Given the description of an element on the screen output the (x, y) to click on. 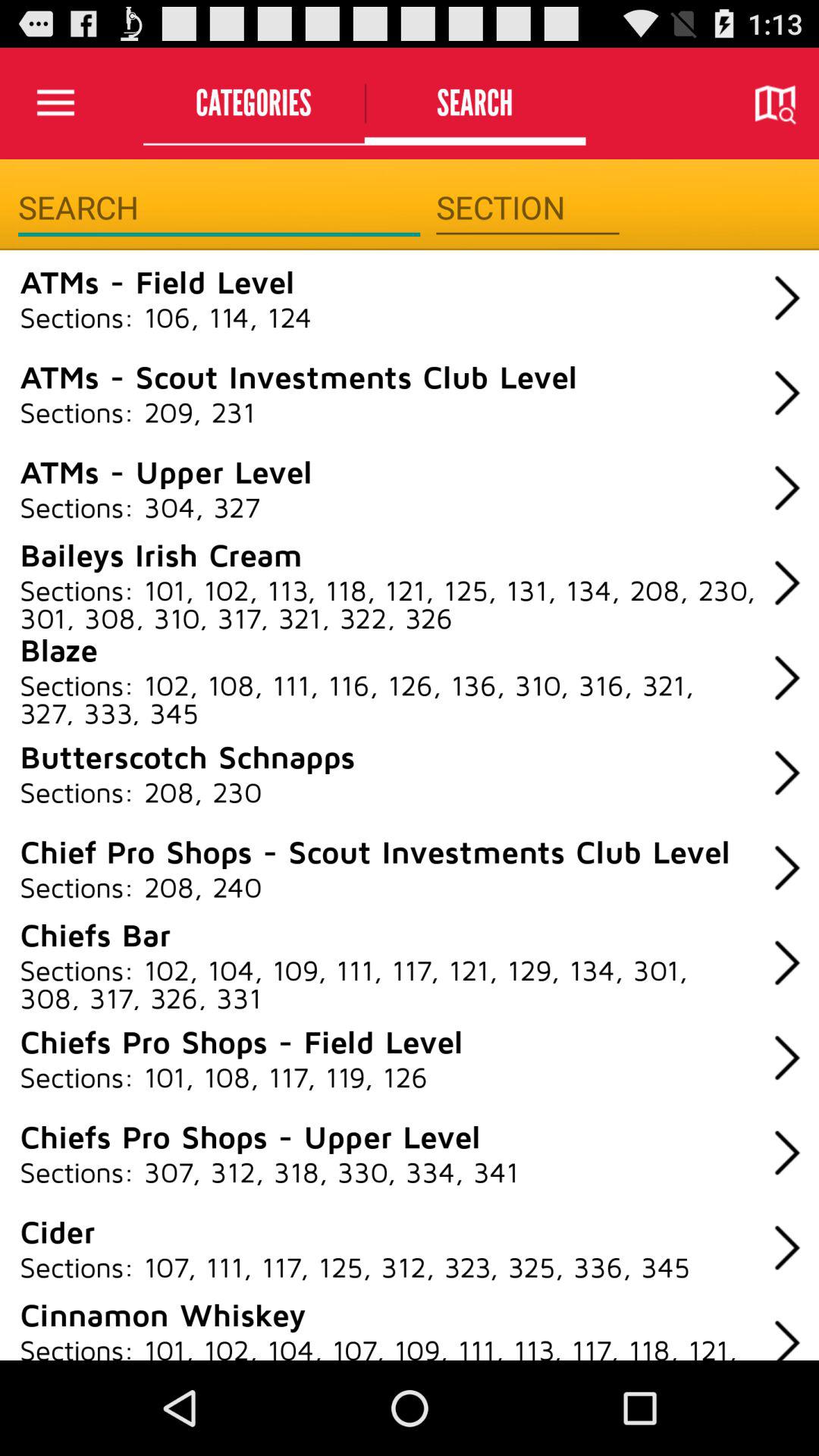
click the categories item (253, 103)
